Given the description of an element on the screen output the (x, y) to click on. 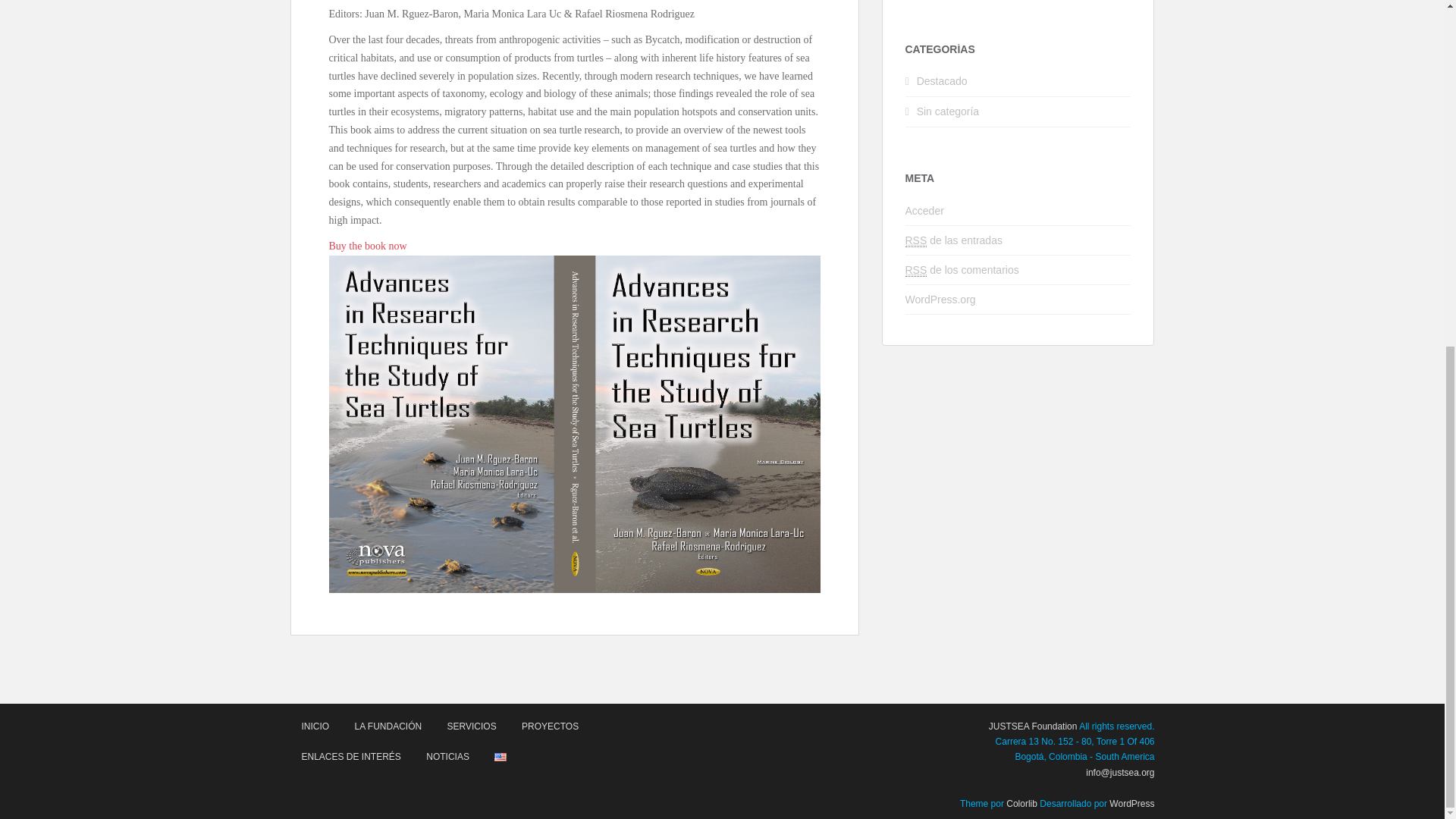
INICIO (314, 726)
Really Simple Syndication (916, 269)
WordPress.org (940, 299)
Destacado (942, 80)
PROYECTOS (550, 726)
RSS de las entradas (954, 240)
English (500, 756)
Really Simple Syndication (916, 240)
JUSTSEA Foundation (1032, 726)
NOTICIAS (447, 757)
SERVICIOS (471, 726)
Acceder (924, 210)
JUSTSEA Foundation (1032, 726)
Buy the book now (368, 245)
RSS de los comentarios (962, 269)
